Given the description of an element on the screen output the (x, y) to click on. 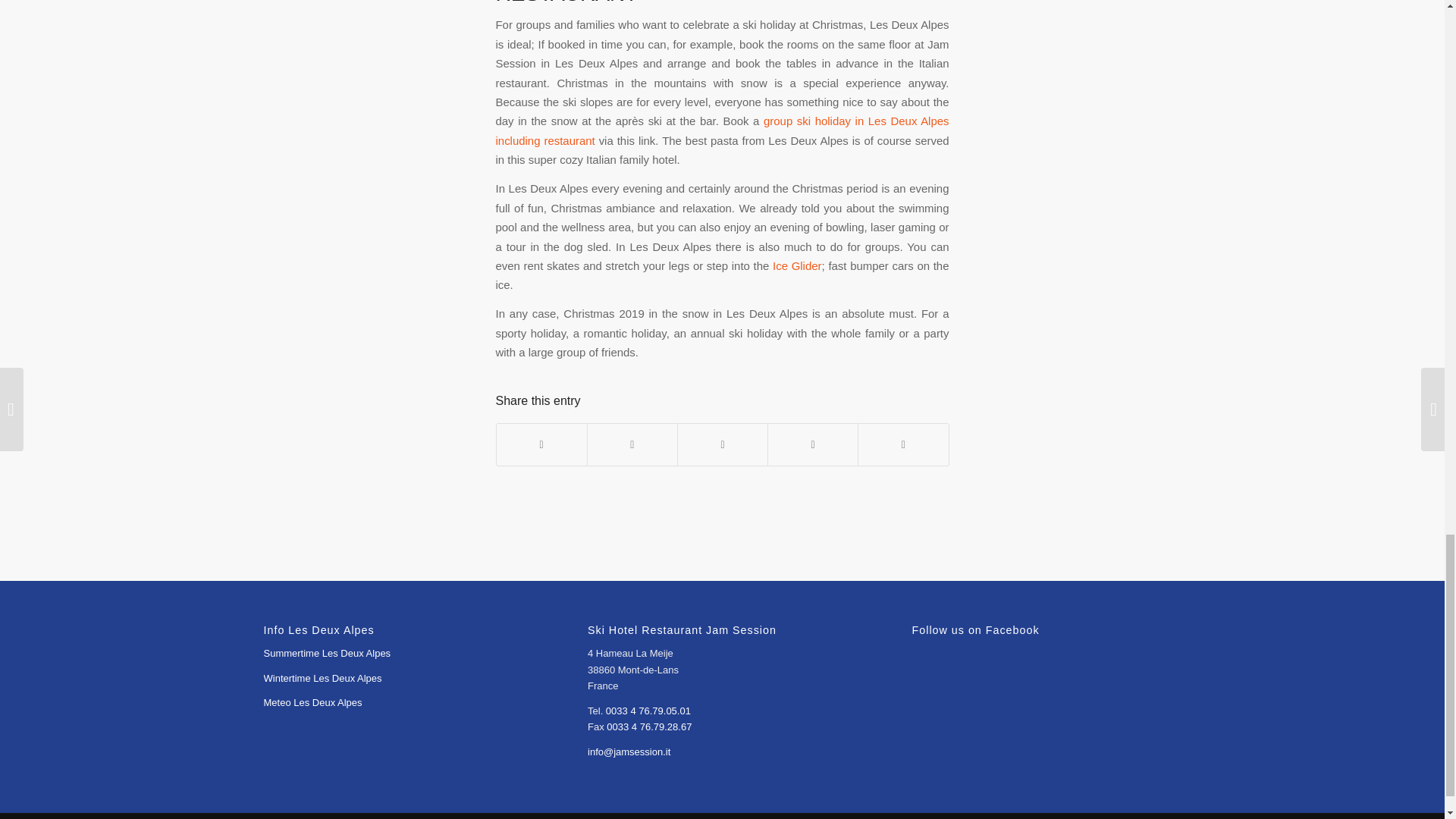
Wintertime Les Deux Alpes (322, 677)
Ice Glider (797, 265)
Summertime Les Deux Alpes (327, 653)
group ski holiday in Les Deux Alpes including restaurant (722, 130)
Meteo Les Deux Alpes (312, 702)
